Given the description of an element on the screen output the (x, y) to click on. 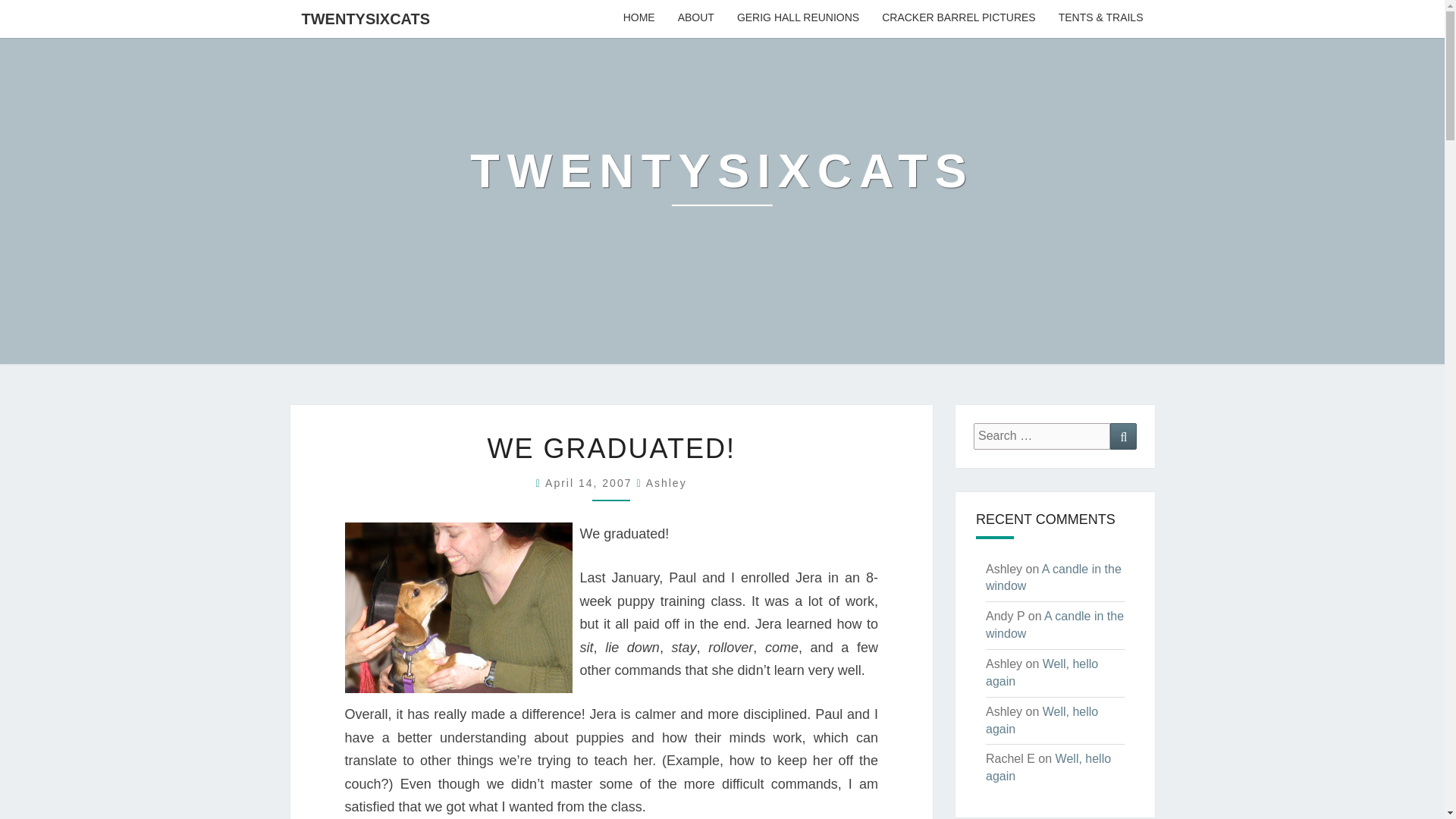
TWENTYSIXCATS (365, 18)
Search (1123, 436)
Well, hello again (1041, 672)
twentysixcats (722, 181)
TWENTYSIXCATS (722, 181)
CRACKER BARREL PICTURES (958, 18)
Search for: (1041, 436)
7:51 am (590, 482)
Well, hello again (1041, 720)
Well, hello again (1047, 767)
